Given the description of an element on the screen output the (x, y) to click on. 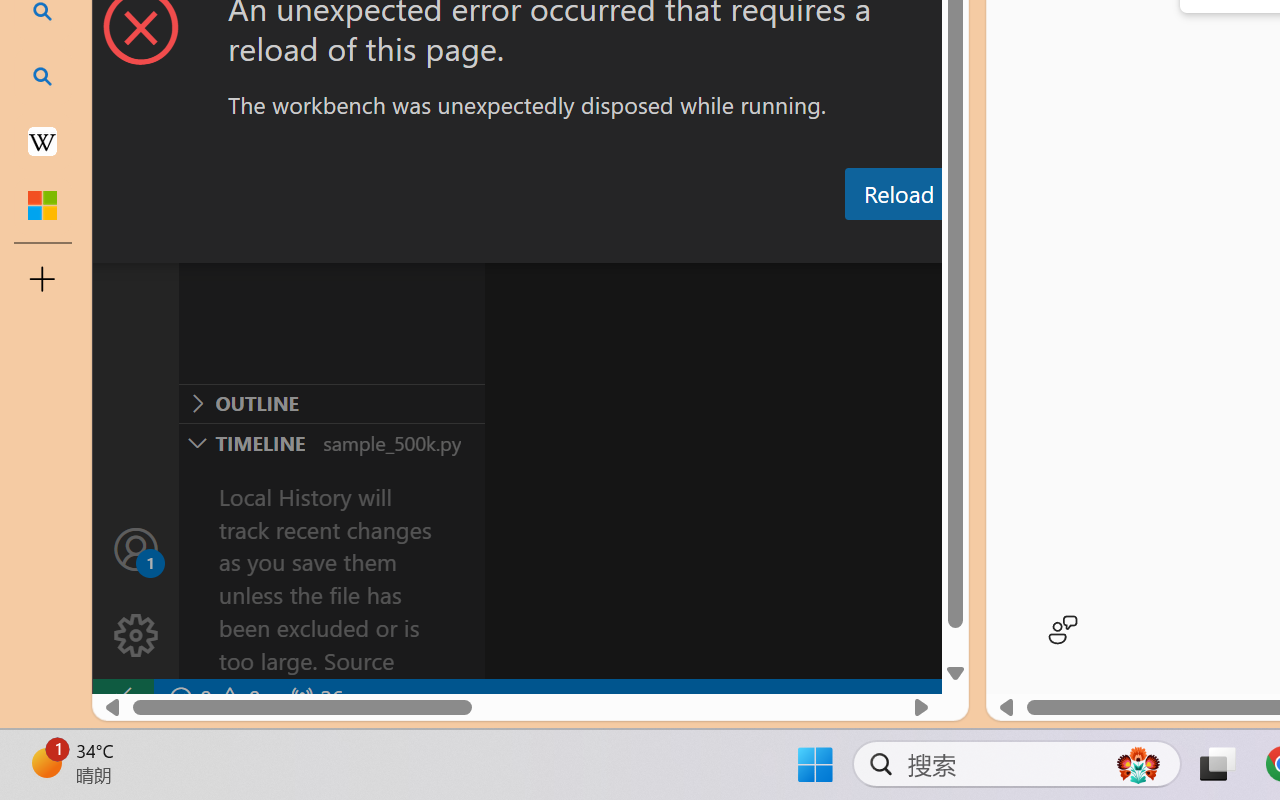
Manage (135, 591)
Outline Section (331, 403)
Earth - Wikipedia (42, 140)
Manage (135, 635)
